Given the description of an element on the screen output the (x, y) to click on. 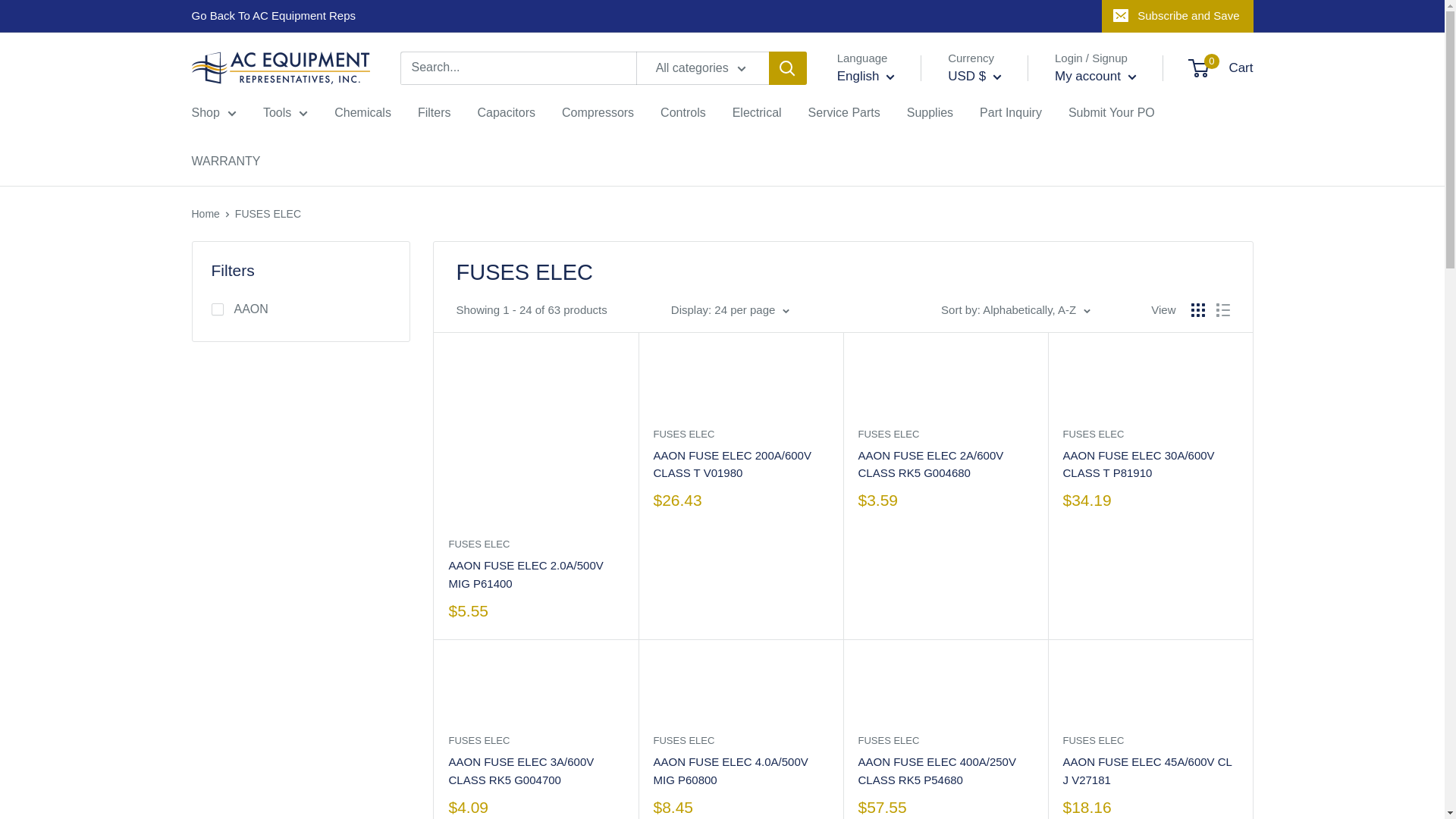
Subscribe and Save (1177, 15)
Go Back To AC Equipment Reps (272, 15)
on (216, 309)
